Given the description of an element on the screen output the (x, y) to click on. 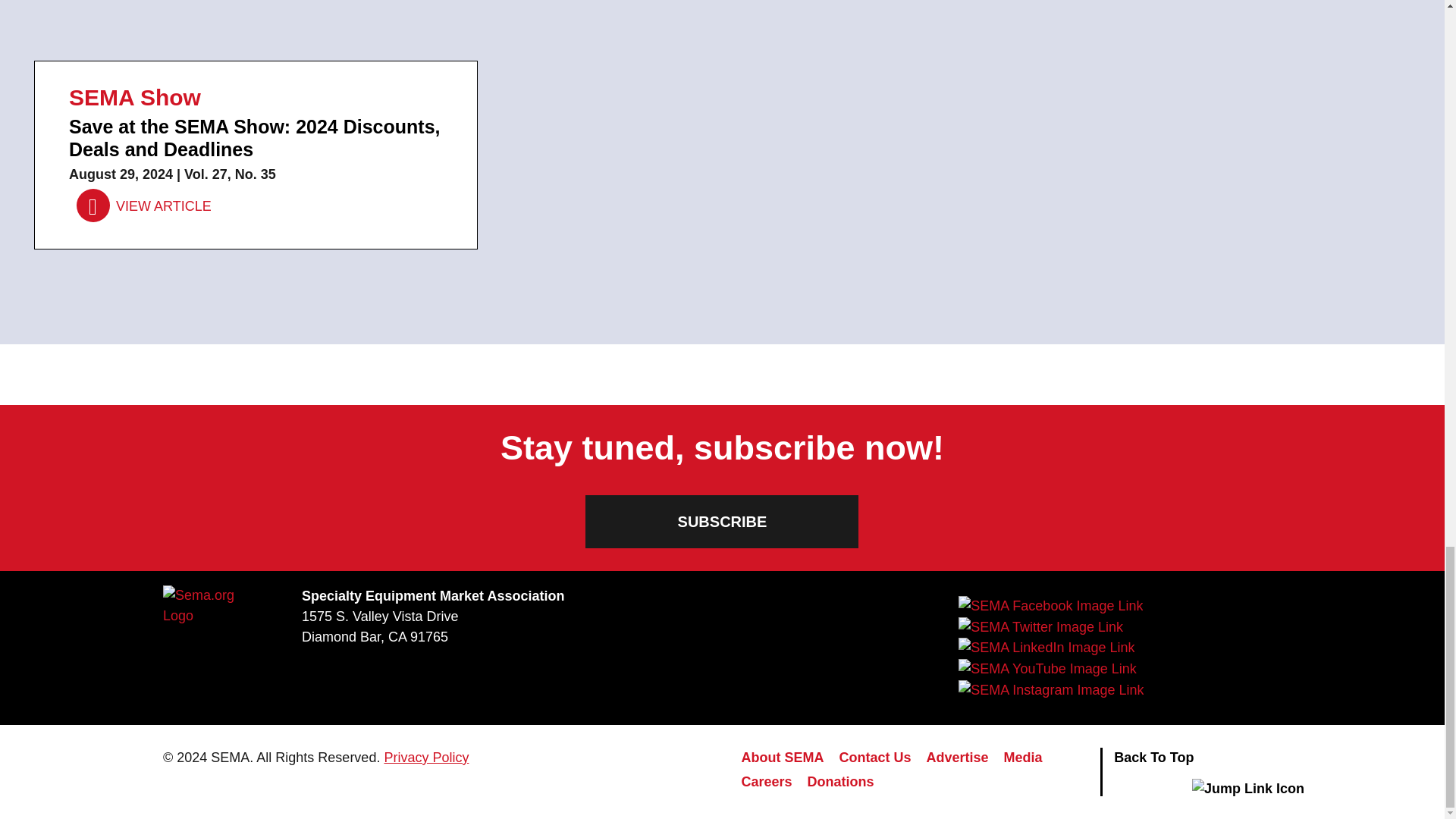
VIEW ARTICLE (143, 205)
SEMA Facebook Link (1050, 605)
Save at the SEMA Show: 2024 Discounts, Deals and Deadlines (143, 205)
SEMA Instagram Link (1050, 690)
SUBSCRIBE (722, 521)
SEMA Twitter Link (1040, 627)
SEMA YouTube Link (1046, 668)
Privacy Policy (426, 757)
SEMA LinkedIn Link (1046, 648)
